Given the description of an element on the screen output the (x, y) to click on. 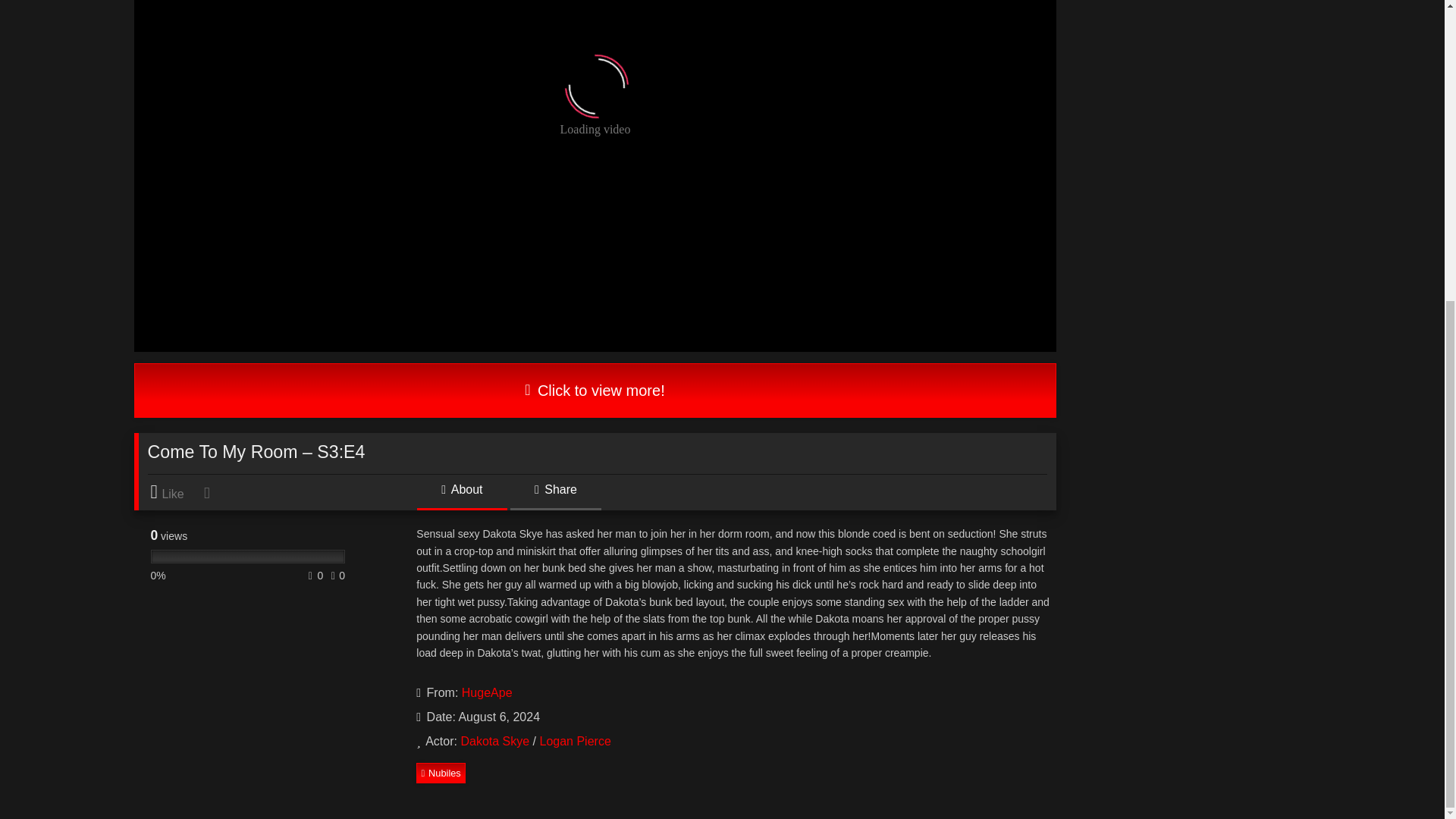
Like (174, 492)
HugeApe (486, 692)
Dakota Skye (494, 740)
Nubiles (440, 772)
Logan Pierce (574, 740)
Click to view more! (594, 390)
Posts by HugeApe (486, 692)
About (461, 495)
Nubiles (440, 772)
Dakota Skye (494, 740)
